Given the description of an element on the screen output the (x, y) to click on. 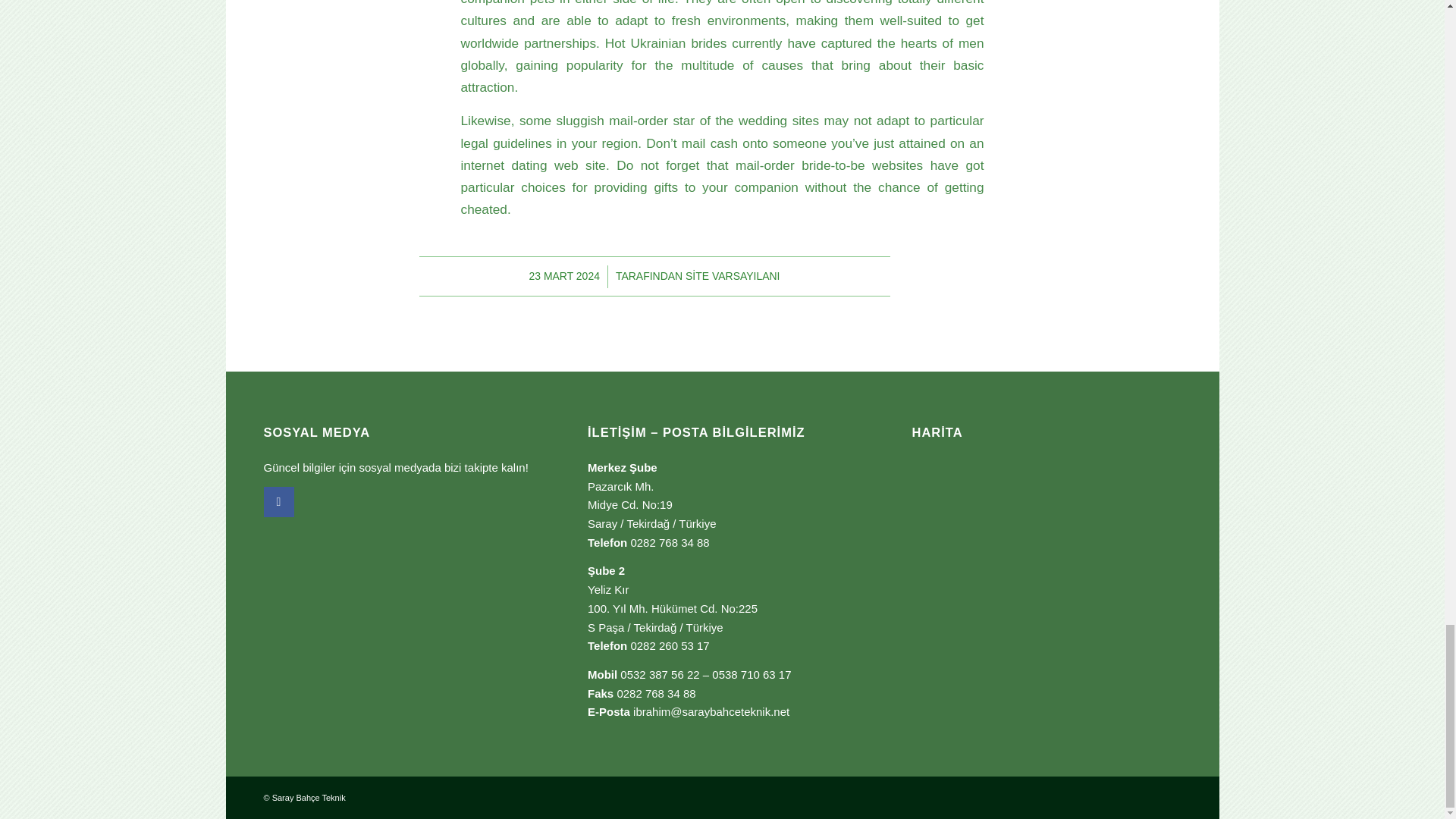
facebook (278, 501)
SITE VARSAYILANI (731, 275)
Facebook (278, 501)
